Given the description of an element on the screen output the (x, y) to click on. 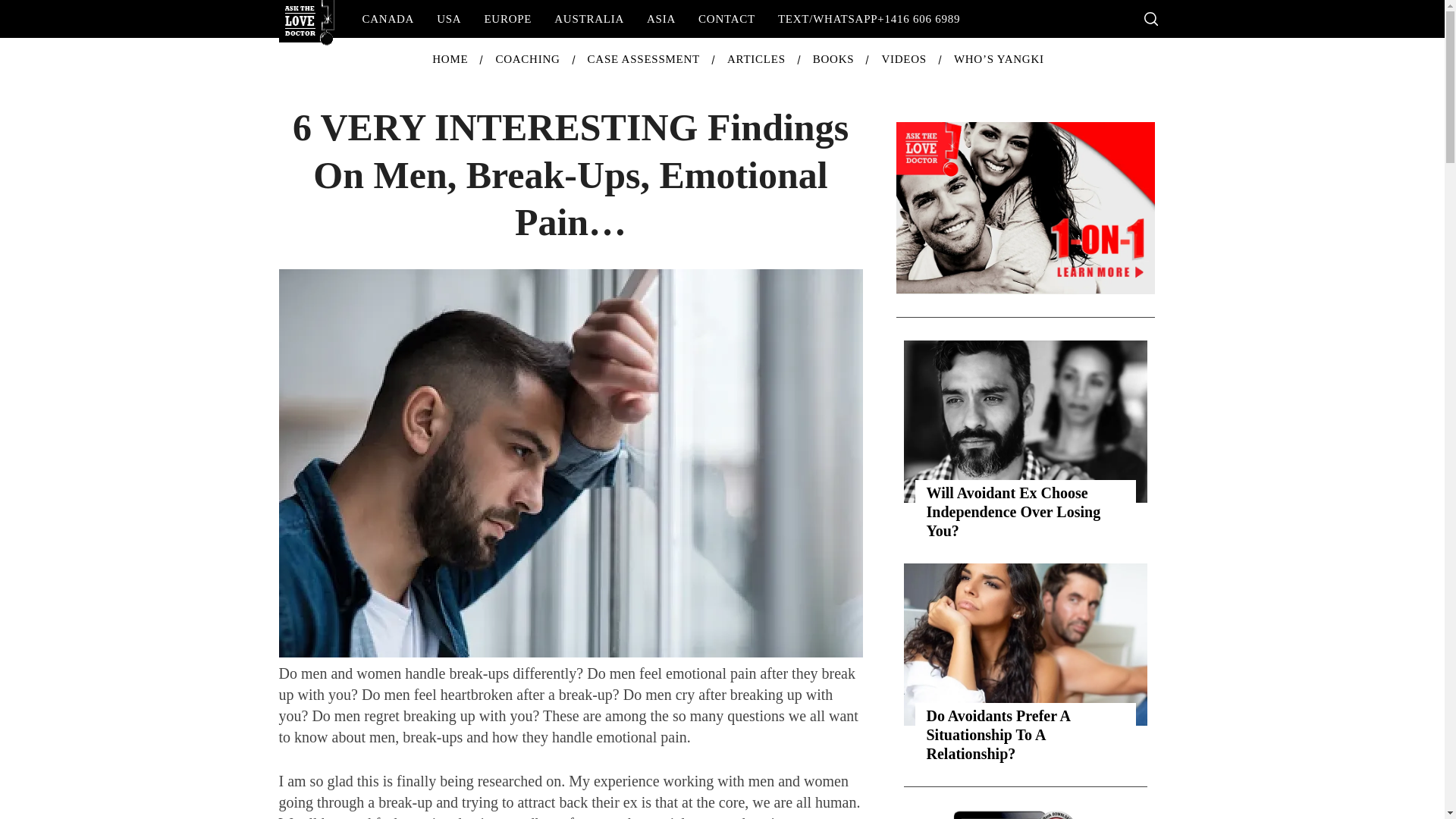
CANADA (387, 18)
ARTICLES (756, 59)
EUROPE (507, 18)
COACHING (527, 59)
CONTACT (727, 18)
AUSTRALIA (588, 18)
ASIA (660, 18)
USA (448, 18)
CASE ASSESSMENT (643, 59)
